Given the description of an element on the screen output the (x, y) to click on. 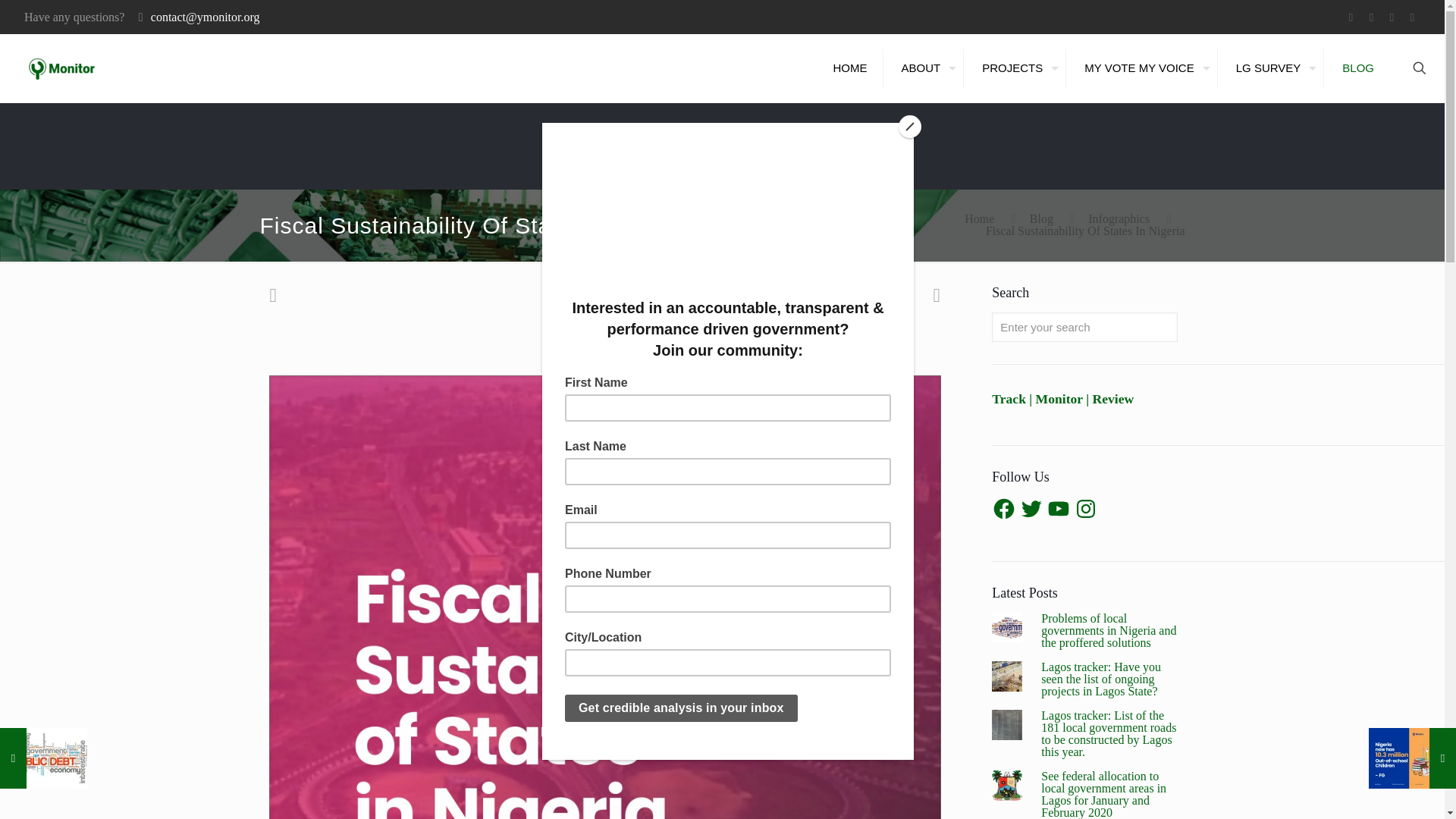
PROJECTS (1015, 67)
Instagram (1413, 17)
ABOUT (924, 67)
LG SURVEY (1272, 67)
YouTube (1391, 17)
HOME (850, 67)
Twitter (1370, 17)
MY VOTE MY VOICE (1142, 67)
Facebook (1350, 17)
